Given the description of an element on the screen output the (x, y) to click on. 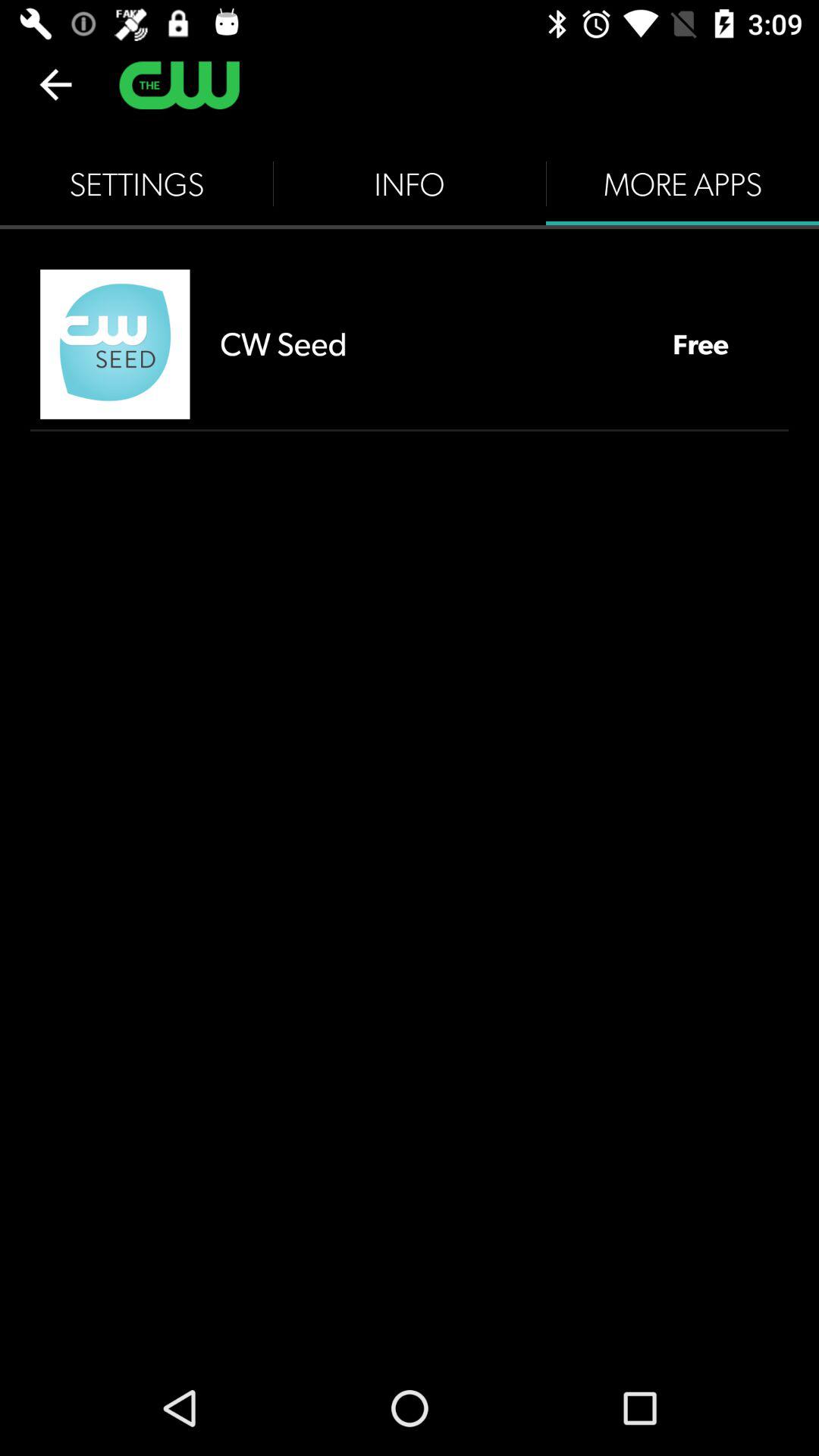
open item next to the settings (409, 184)
